Given the description of an element on the screen output the (x, y) to click on. 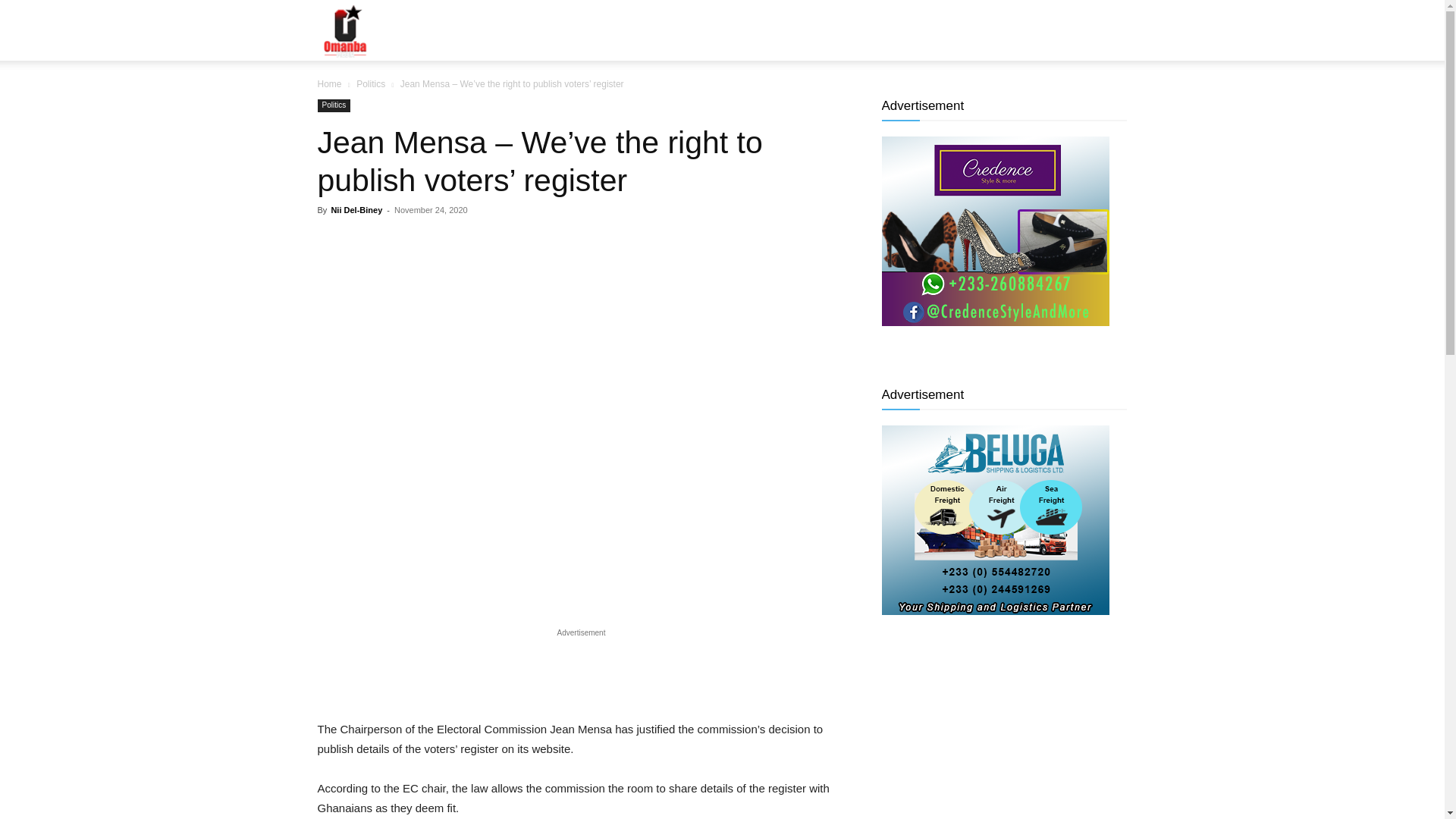
Nii Del-Biney (355, 209)
NEWS (491, 30)
HOME (433, 30)
Politics (370, 83)
SPORTS (757, 30)
Search (1085, 102)
View all posts in Politics (370, 83)
Politics (333, 105)
Omanba Media (344, 30)
POLITICS (683, 30)
ENTERTAINMENT (582, 30)
WORLD (826, 30)
Home (328, 83)
